Given the description of an element on the screen output the (x, y) to click on. 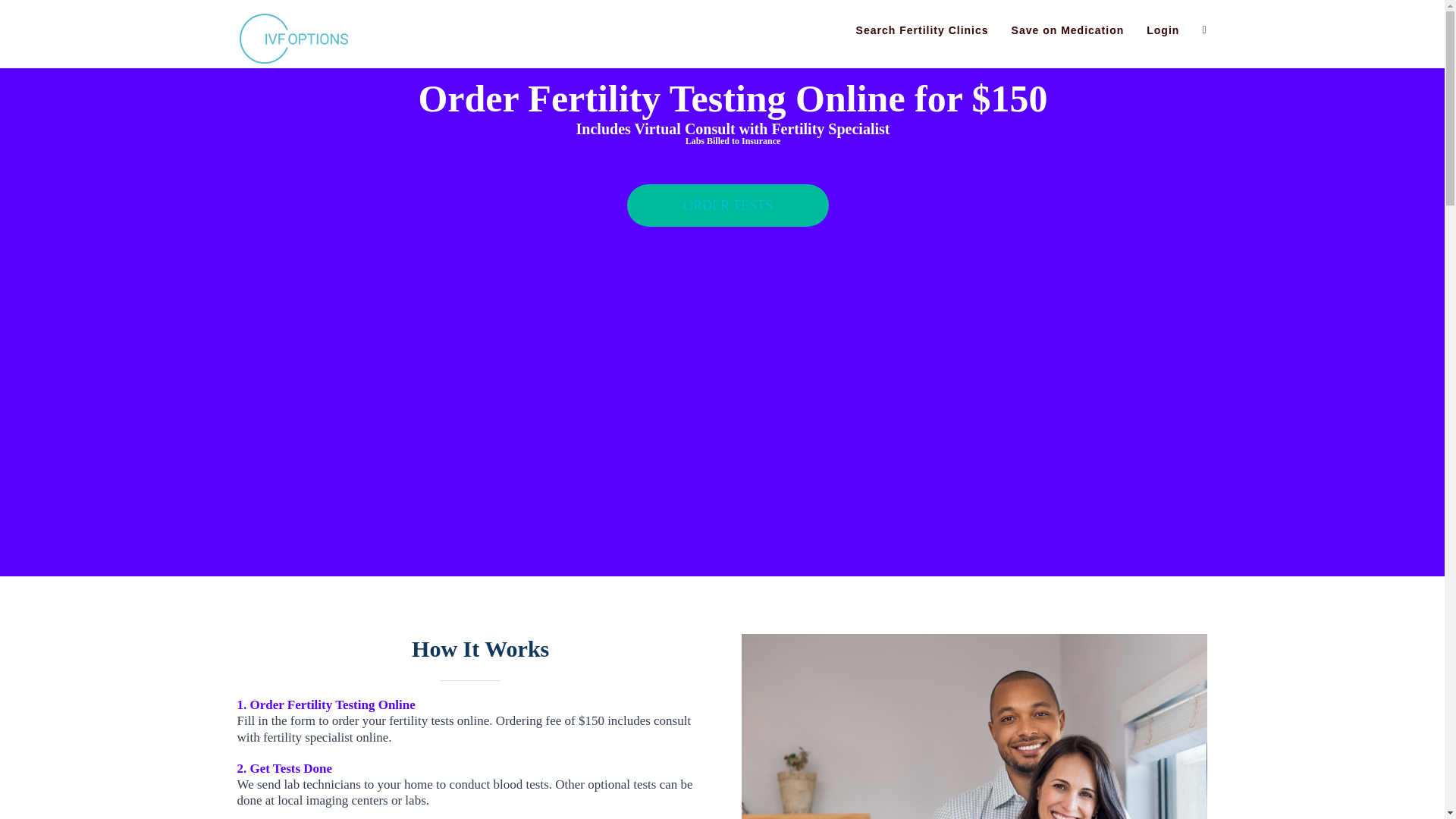
Login (1163, 30)
Save on Medication (1067, 30)
Search Fertility Clinics (922, 30)
YouTube video player 1 (741, 394)
